Given the description of an element on the screen output the (x, y) to click on. 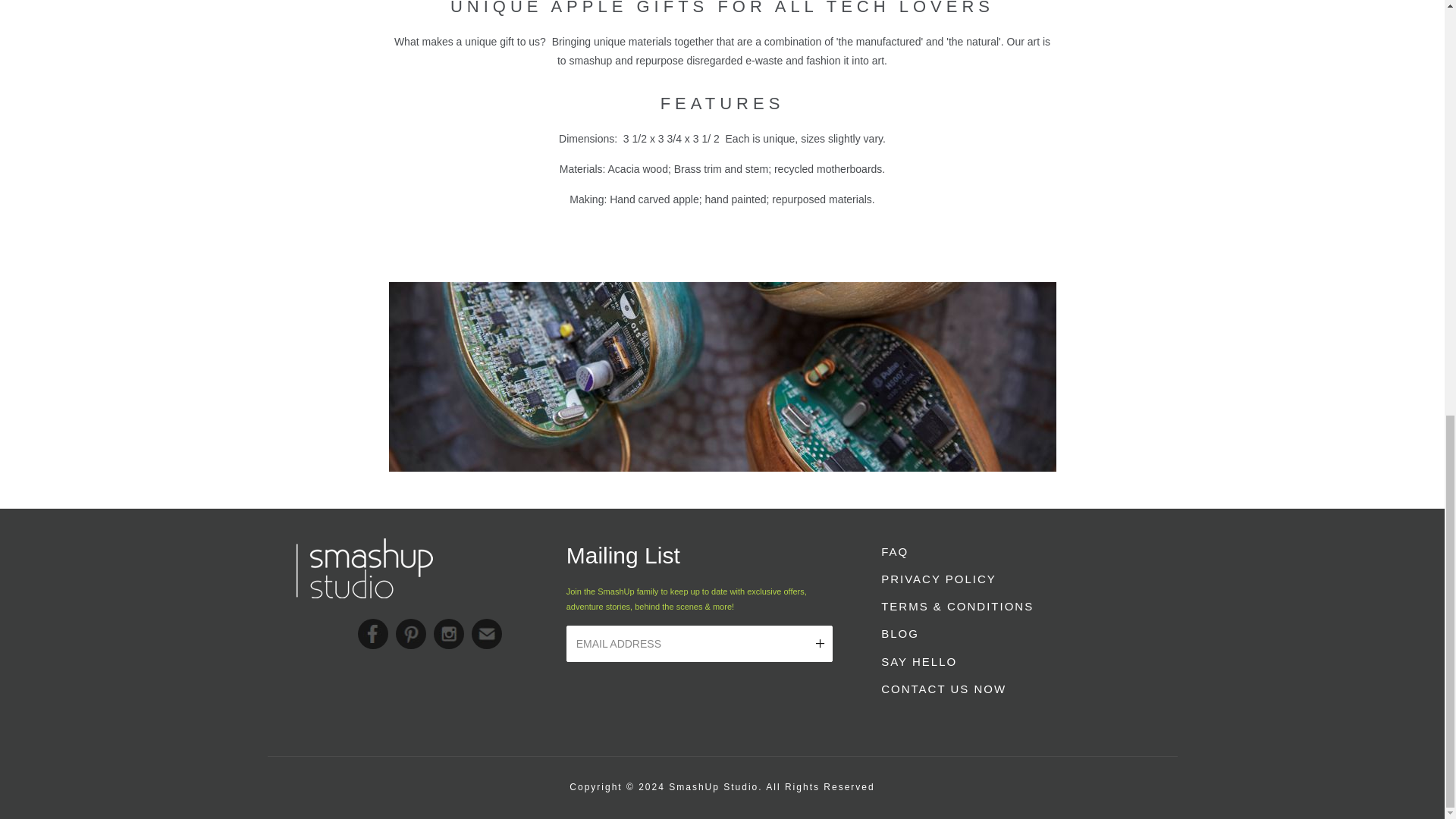
SmashUp Studio on Instagram (448, 634)
SmashUp Studio on Pinterest (411, 634)
SmashUp Studio on Facebook (373, 634)
